Given the description of an element on the screen output the (x, y) to click on. 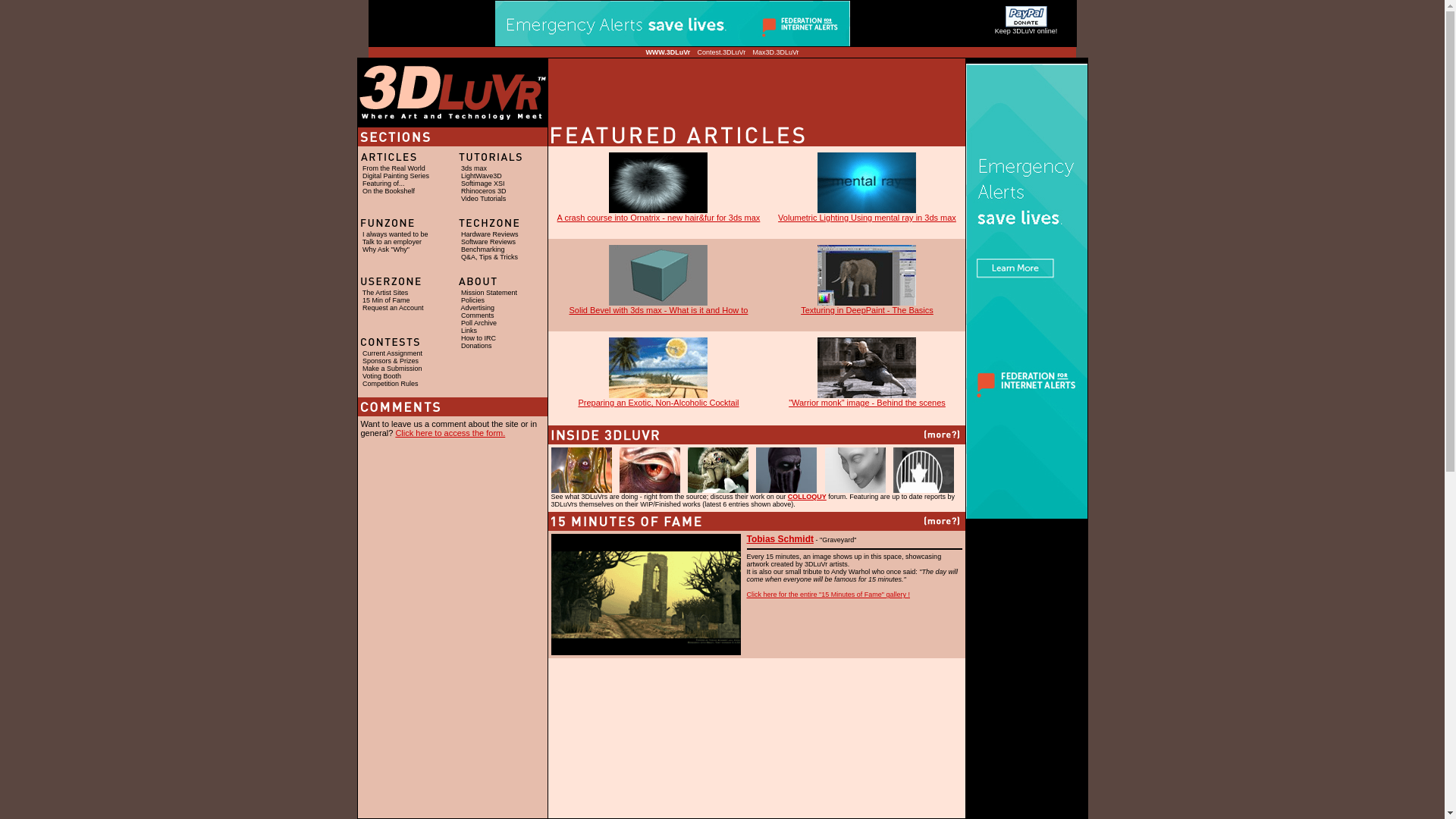
Links Element type: text (468, 330)
Contest.3DLuVr Element type: text (721, 52)
3ds max Element type: text (473, 168)
How to IRC Element type: text (478, 338)
WWW.3DLuVr Element type: text (667, 52)
Mission Statement Element type: text (489, 292)
On the Bookshelf Element type: text (388, 190)
Donations Element type: text (476, 345)
Software Reviews Element type: text (488, 241)
From the Real World Element type: text (393, 168)
15 Min of Fame Element type: text (386, 300)
Tobias Schmidt Element type: text (779, 539)
Comments Element type: text (477, 315)
The Artist Sites Element type: text (385, 292)
COLLOQUY Element type: text (806, 496)
Softimage XSI Element type: text (483, 183)
Voting Booth Element type: text (381, 375)
Talk to an employer Element type: text (391, 241)
Advertising Element type: text (478, 307)
Q&A, Tips & Tricks Element type: text (489, 256)
Why Ask "Why" Element type: text (385, 249)
Sponsors & Prizes Element type: text (390, 360)
"Warrior monk" image - Behind the scenes Element type: text (866, 398)
Poll Archive Element type: text (478, 322)
Click here to access the form. Element type: text (450, 432)
Solid Bevel with 3ds max - What is it and How to Element type: text (657, 306)
Rhinoceros 3D Element type: text (483, 190)
Current Assignment Element type: text (392, 353)
Max3D.3DLuVr Element type: text (775, 52)
Competition Rules Element type: text (390, 383)
Video Tutorials Element type: text (483, 198)
Benchmarking Element type: text (483, 249)
Click here for the entire "15 Minutes of Fame" gallery ! Element type: text (827, 594)
Volumetric Lighting Using mental ray in 3ds max Element type: text (867, 213)
Hardware Reviews Element type: text (489, 234)
Featuring of... Element type: text (383, 183)
A crash course into Ornatrix - new hair&fur for 3ds max Element type: text (658, 213)
Texturing in DeepPaint - The Basics Element type: text (866, 306)
Make a Submission Element type: text (392, 368)
LightWave3D Element type: text (481, 175)
Digital Painting Series Element type: text (395, 175)
Preparing an Exotic, Non-Alcoholic Cocktail Element type: text (657, 398)
Request an Account Element type: text (392, 307)
I always wanted to be Element type: text (395, 234)
Policies Element type: text (472, 300)
